Given the description of an element on the screen output the (x, y) to click on. 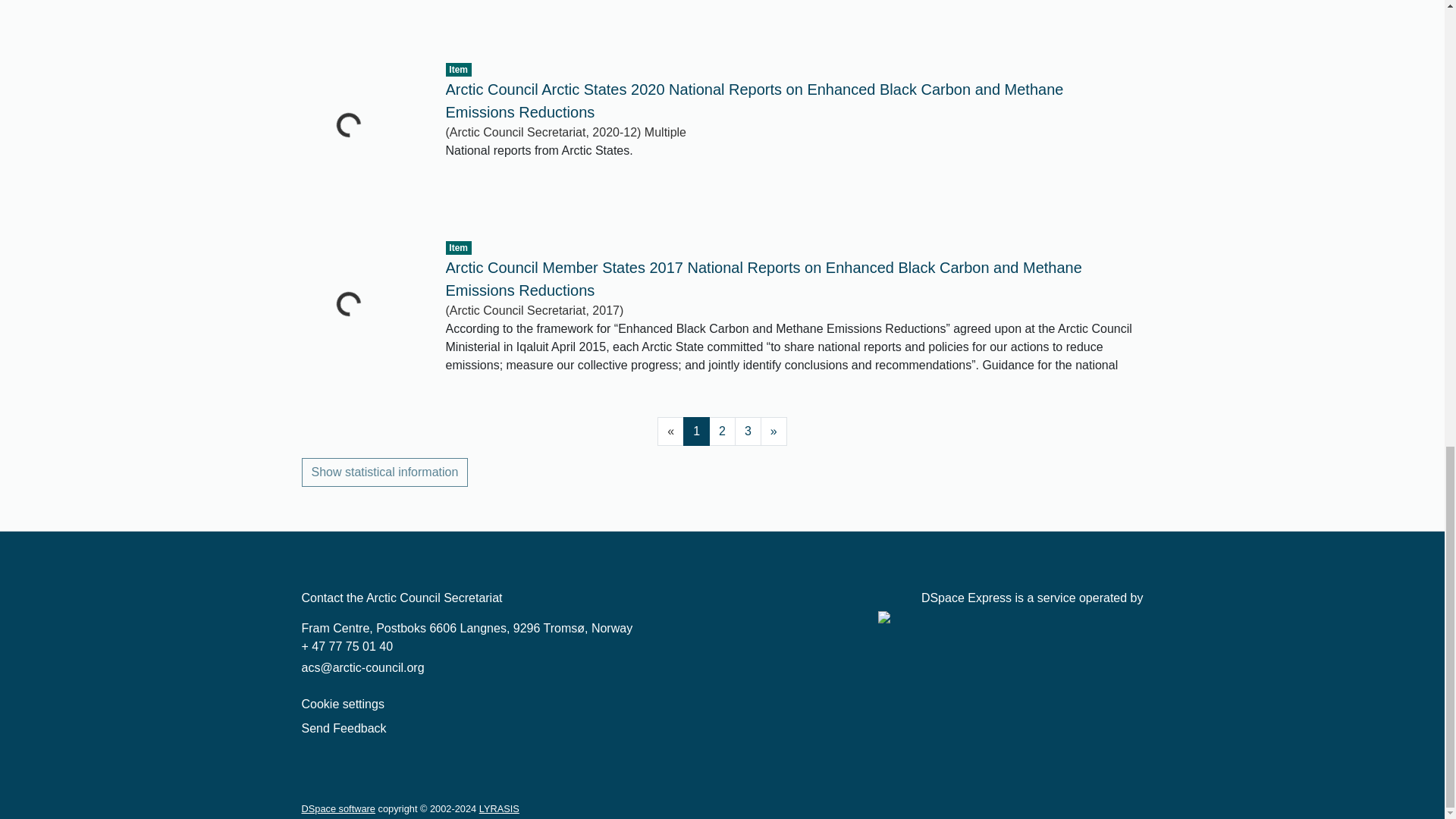
Loading... (362, 136)
2 (722, 430)
Loading... (362, 315)
Loading... (362, 17)
